Given the description of an element on the screen output the (x, y) to click on. 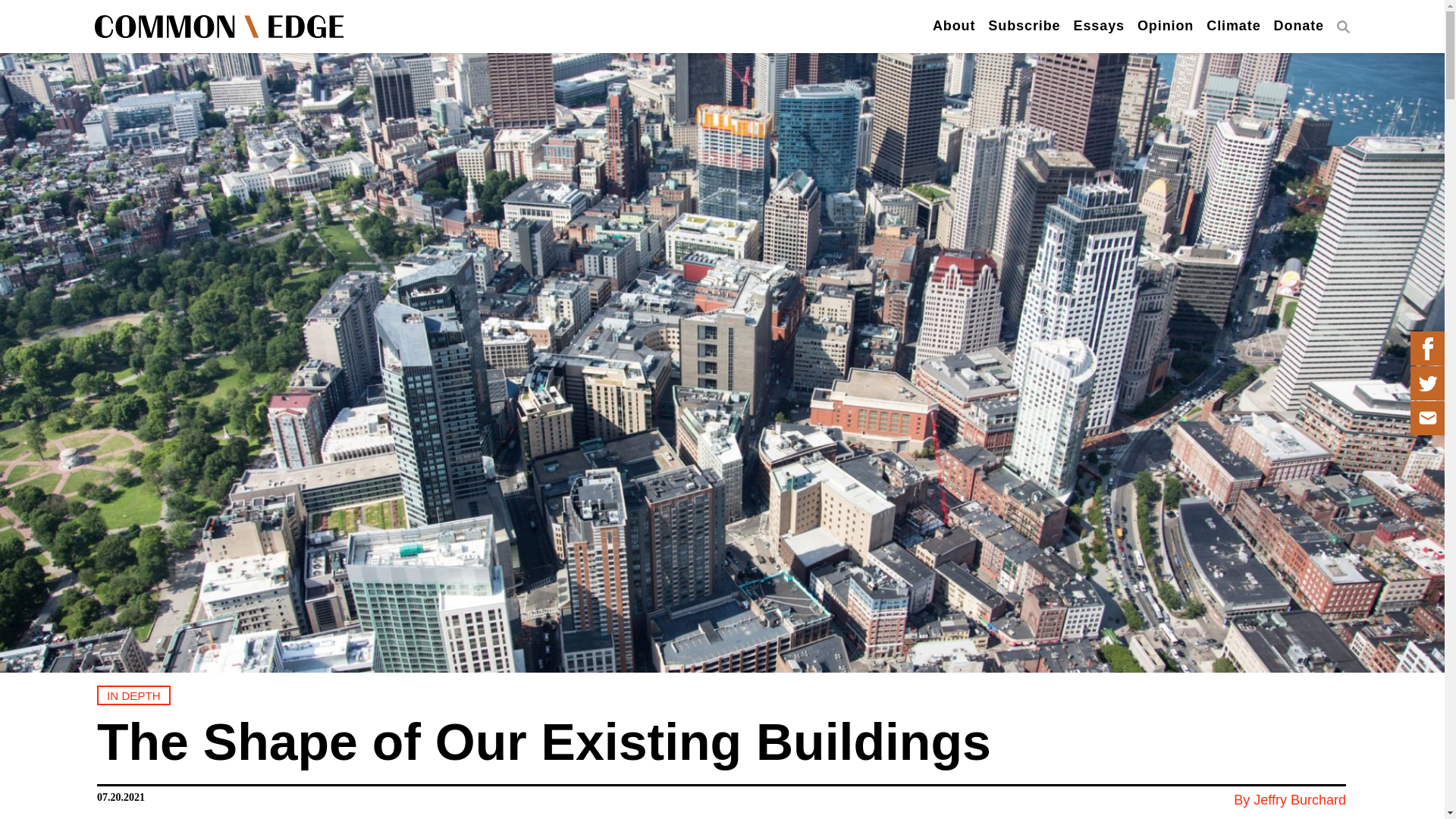
Essays (1099, 27)
About (954, 27)
Climate (1233, 27)
Donate (1298, 27)
Opinion (1165, 27)
Jeffry Burchard (1299, 799)
Subscribe (1023, 27)
IN DEPTH (133, 695)
